Given the description of an element on the screen output the (x, y) to click on. 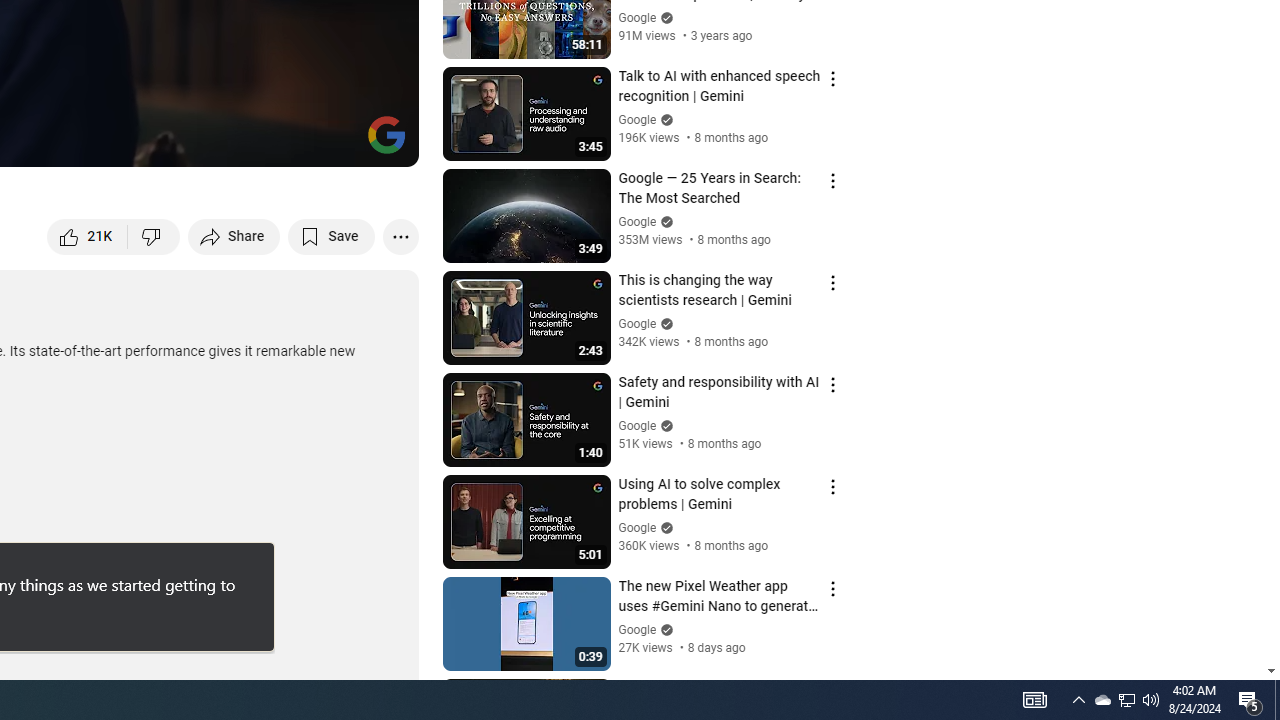
Subtitles/closed captions unavailable (190, 142)
Share (234, 236)
Miniplayer (i) (286, 142)
Verified (664, 629)
Save to playlist (331, 236)
